Given the description of an element on the screen output the (x, y) to click on. 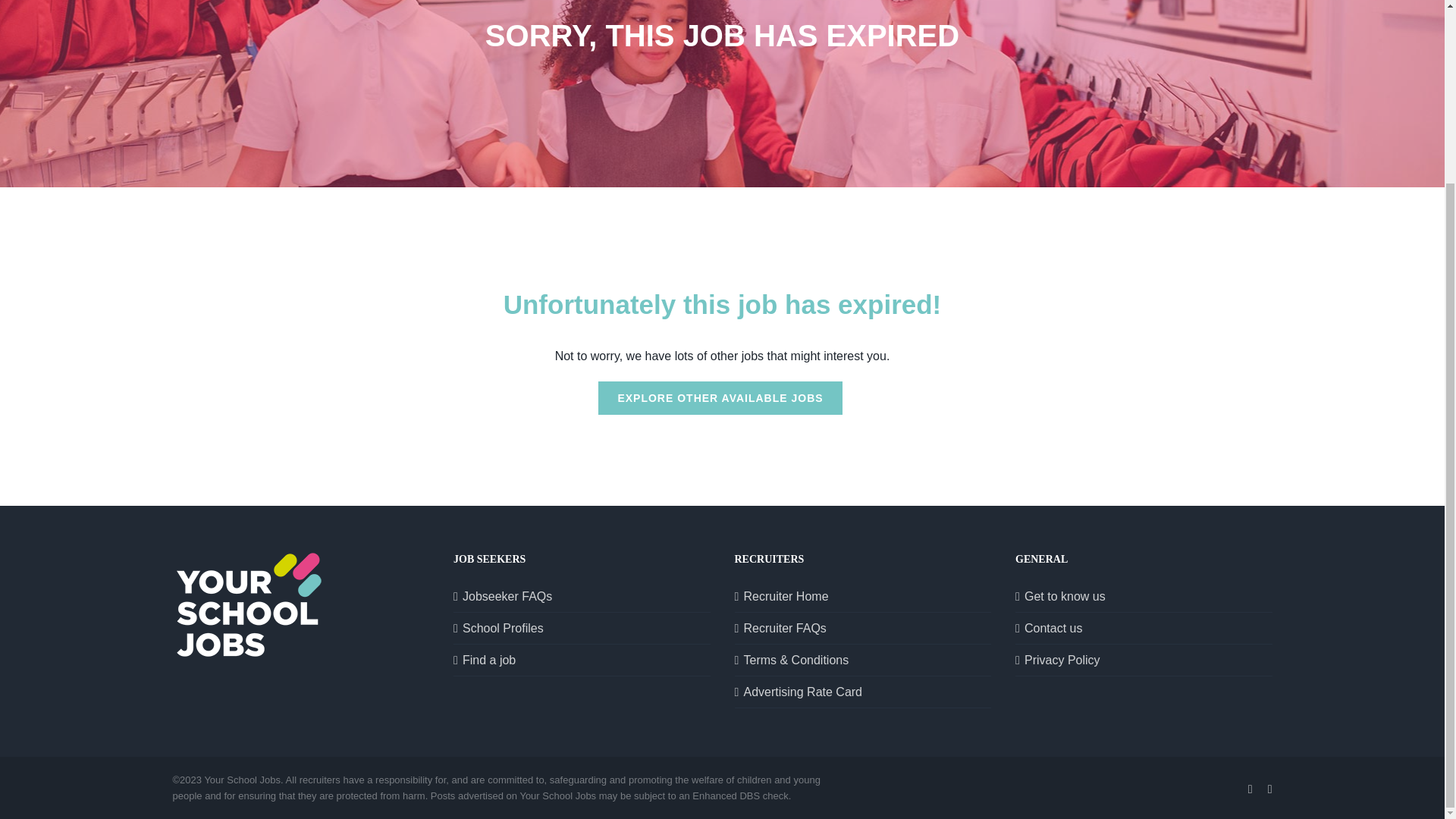
Advertising Rate Card (863, 691)
EXPLORE OTHER AVAILABLE JOBS (719, 397)
Recruiter Home (863, 596)
Jobseeker FAQs (583, 596)
School Profiles (583, 627)
Find a job (583, 659)
Get to know us (1145, 596)
Contact us (1145, 627)
Recruiter FAQs (863, 627)
